Given the description of an element on the screen output the (x, y) to click on. 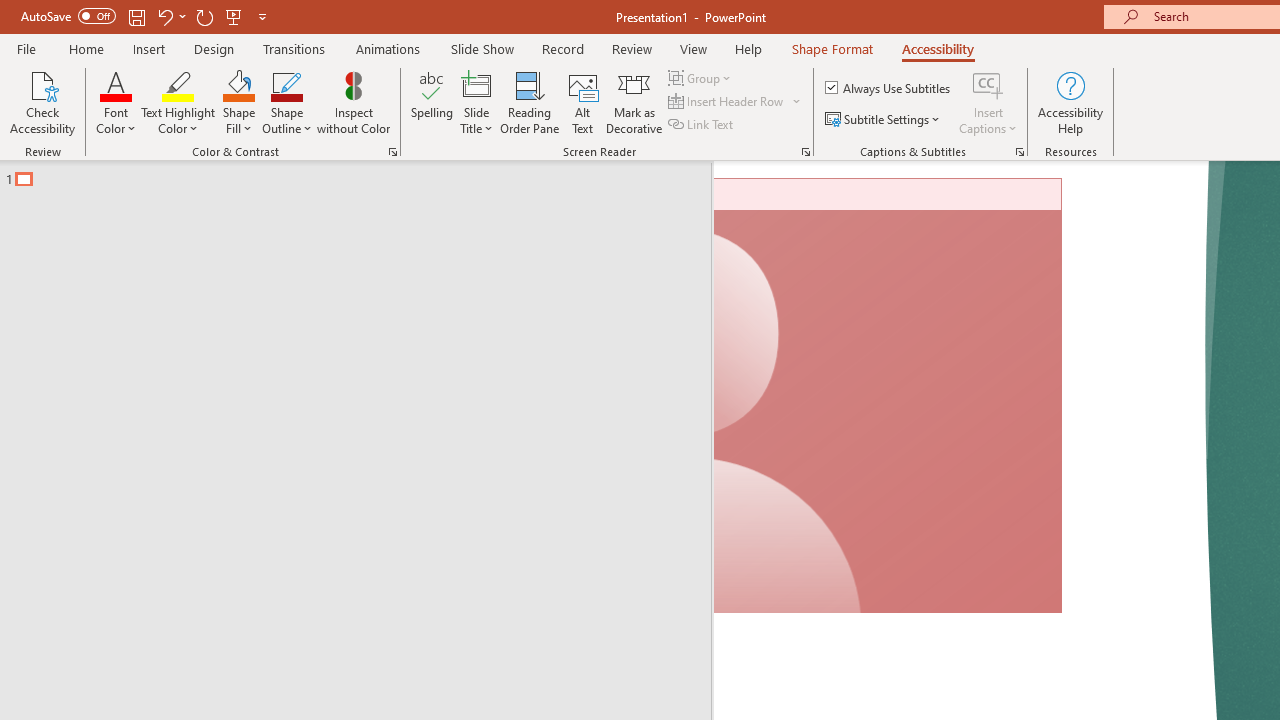
Slide Title (476, 102)
Insert Header Row (727, 101)
Group (701, 78)
Subtitle Settings (884, 119)
Accessibility Help (1070, 102)
Insert Captions (988, 84)
Camera 7, No camera detected. (888, 395)
